Given the description of an element on the screen output the (x, y) to click on. 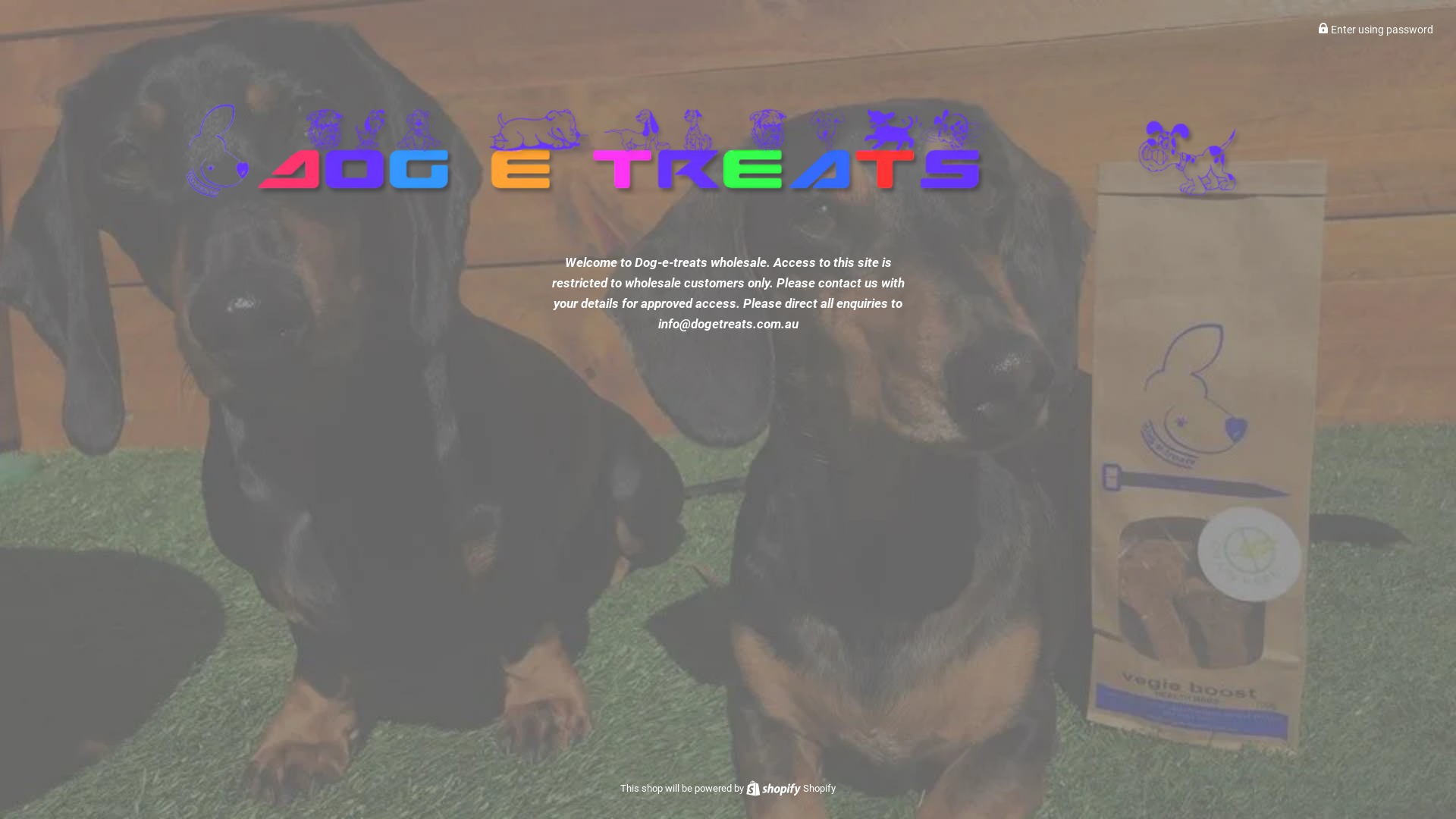
Lock icon Enter using password Element type: text (1375, 29)
Shopify logo Shopify Element type: text (790, 787)
